Given the description of an element on the screen output the (x, y) to click on. 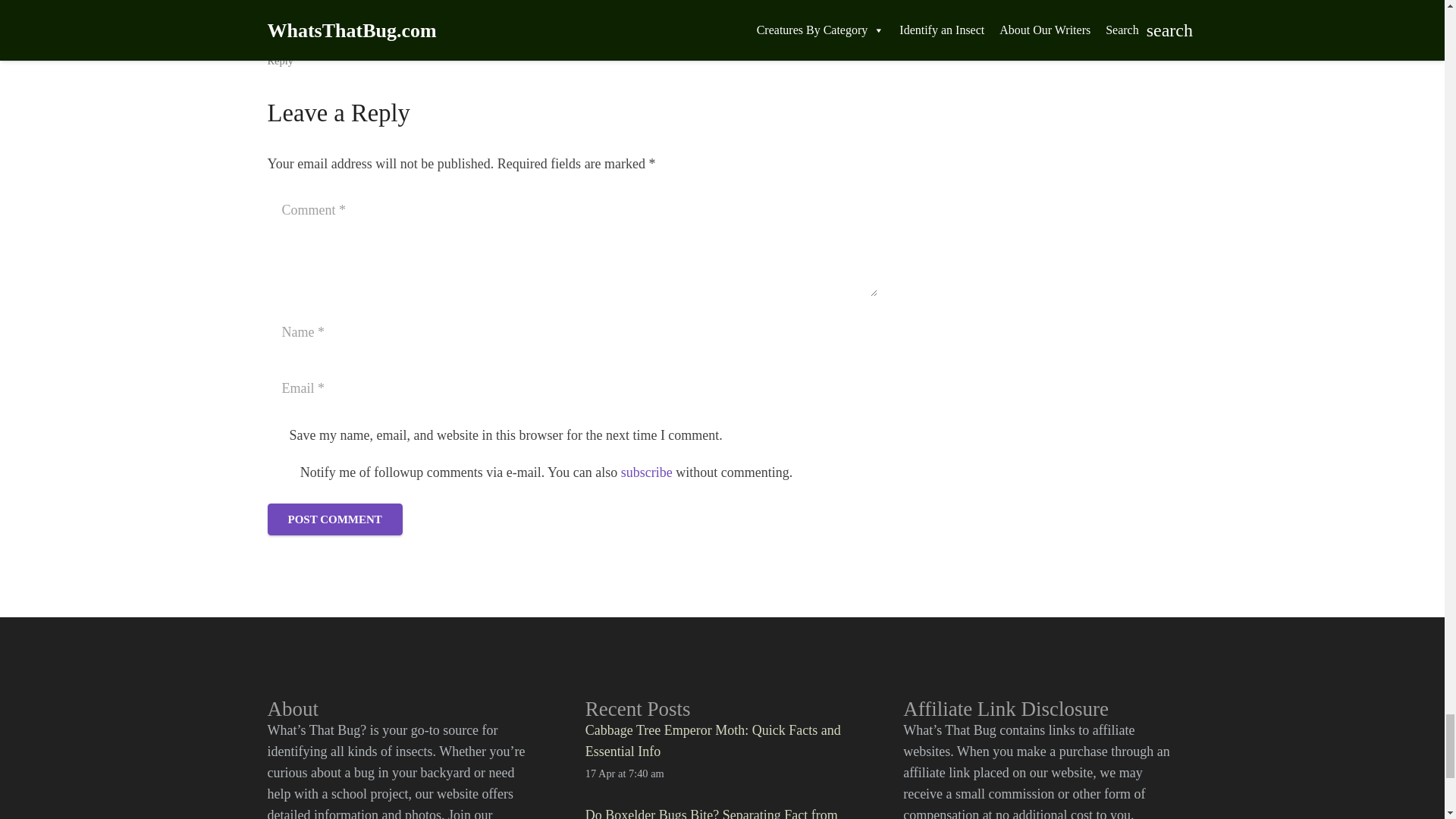
yes (278, 471)
1 (274, 435)
